Given the description of an element on the screen output the (x, y) to click on. 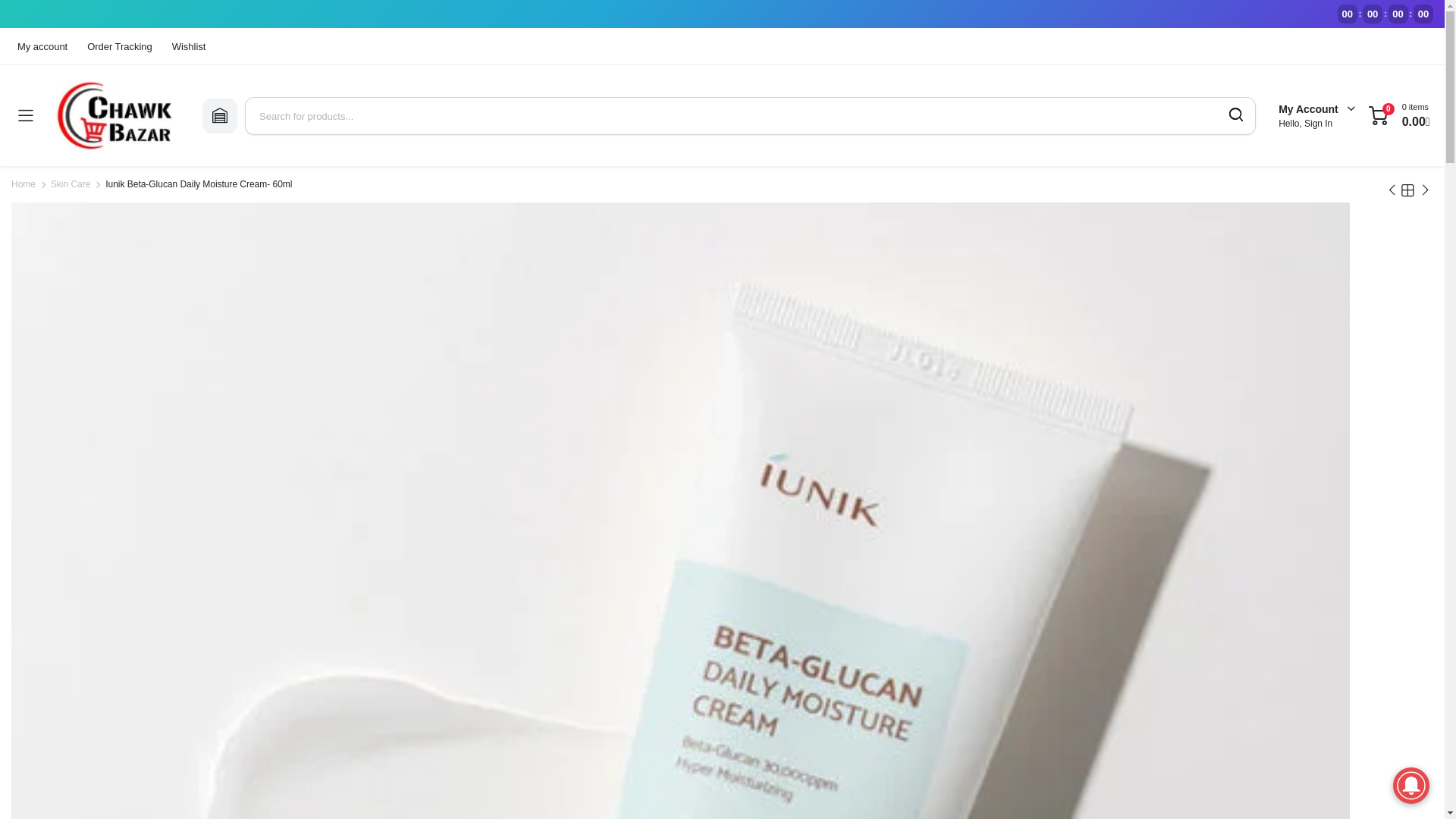
Home (22, 183)
My account (44, 45)
Order Tracking (119, 45)
Chawk Bazar Online Shopping BD (117, 115)
Skin Care (70, 183)
Wishlist (188, 45)
